Given the description of an element on the screen output the (x, y) to click on. 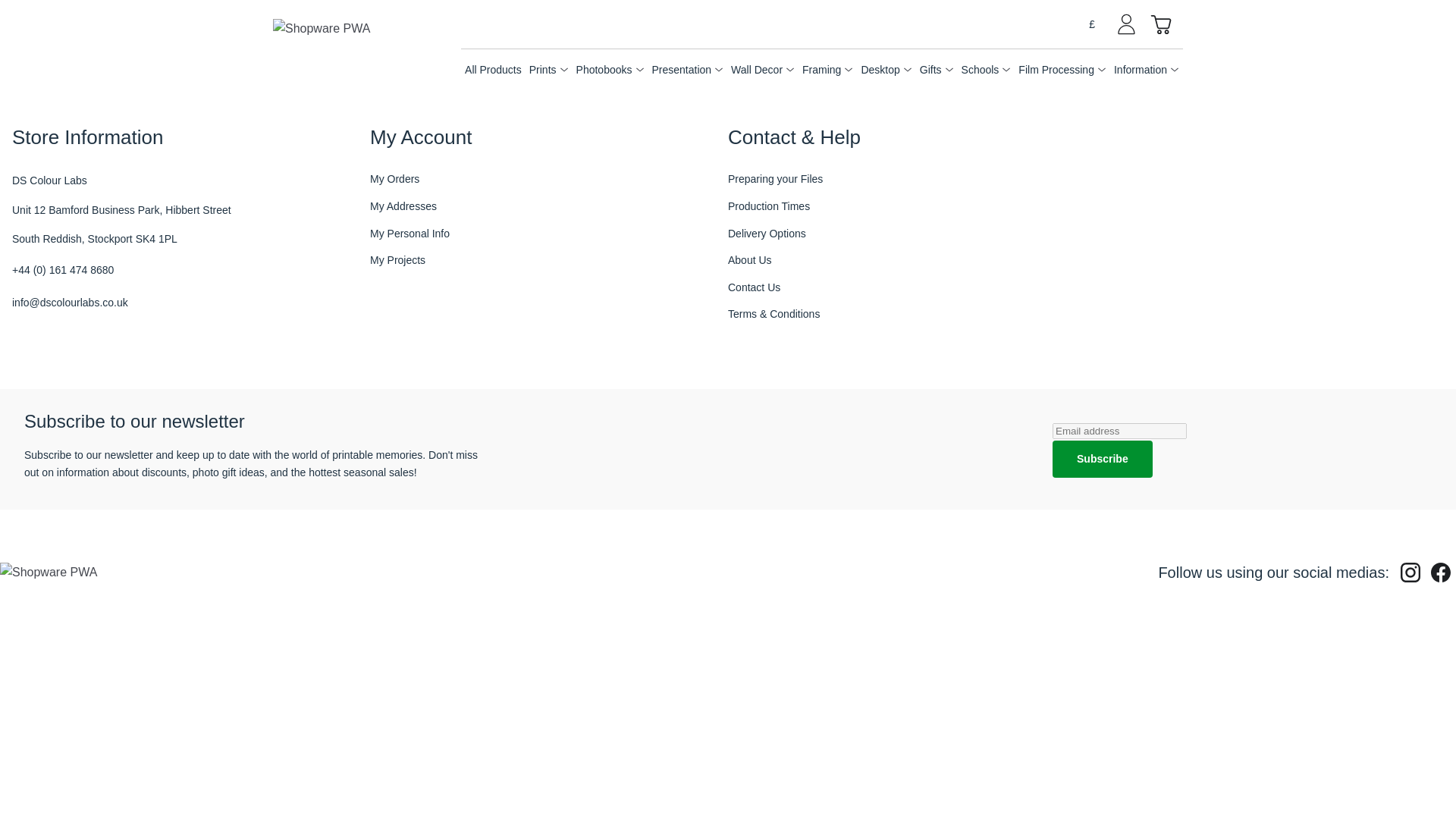
My Addresses (402, 206)
Photobooks (603, 69)
Gifts (931, 69)
Subscribe (1102, 458)
Preparing your Files (775, 179)
My Projects (397, 260)
Contact Us (754, 287)
All Products (492, 69)
My Orders (394, 179)
Wall Decor (756, 69)
